Given the description of an element on the screen output the (x, y) to click on. 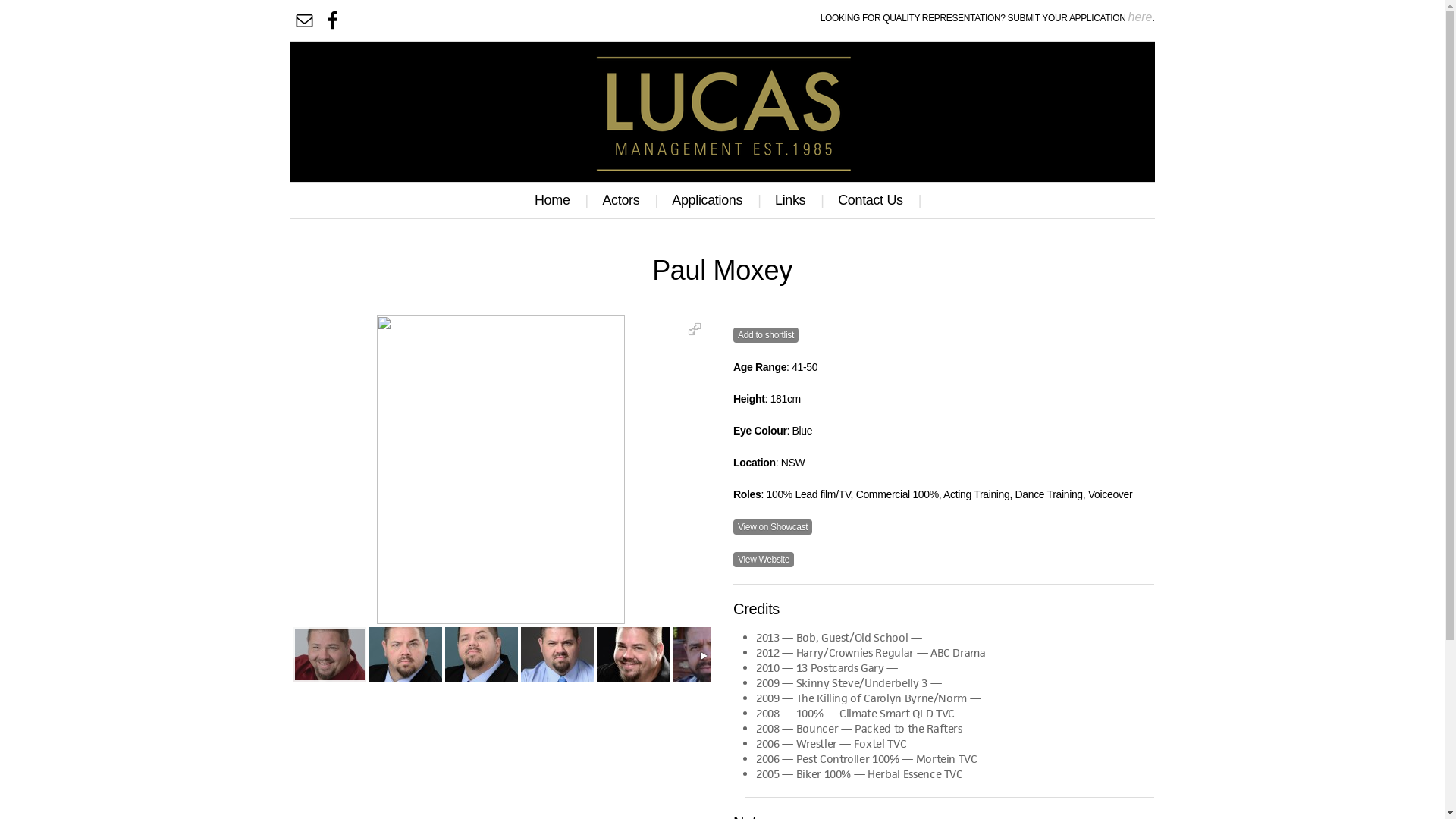
View on Showcast Element type: text (772, 526)
Applications Element type: text (710, 200)
here Element type: text (1139, 16)
Contact Us Element type: text (873, 200)
View Website Element type: text (763, 559)
Add to shortlist Element type: text (765, 334)
Lucas Management Element type: text (721, 103)
Home Element type: text (555, 200)
Actors Element type: text (623, 200)
Links Element type: text (793, 200)
